Given the description of an element on the screen output the (x, y) to click on. 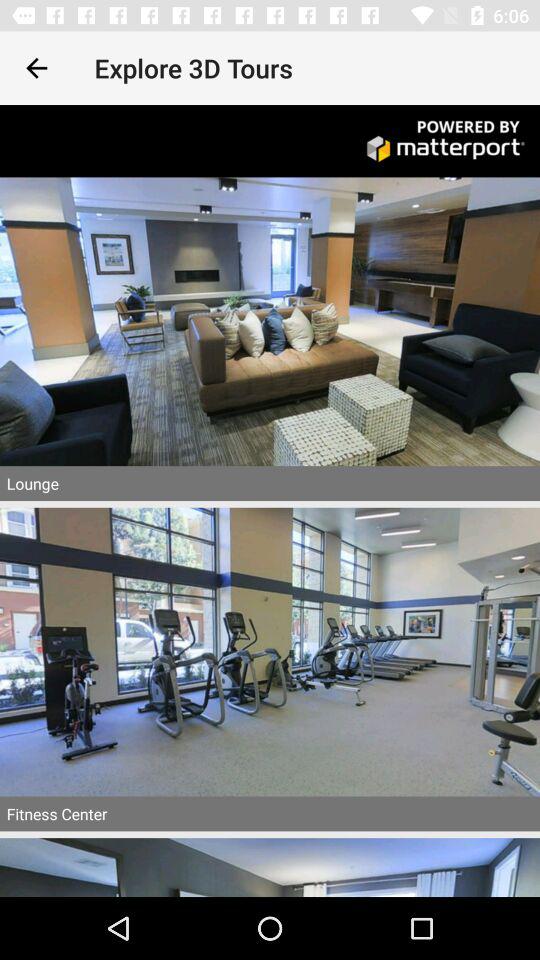
choose the item to the left of the explore 3d tours icon (36, 68)
